Given the description of an element on the screen output the (x, y) to click on. 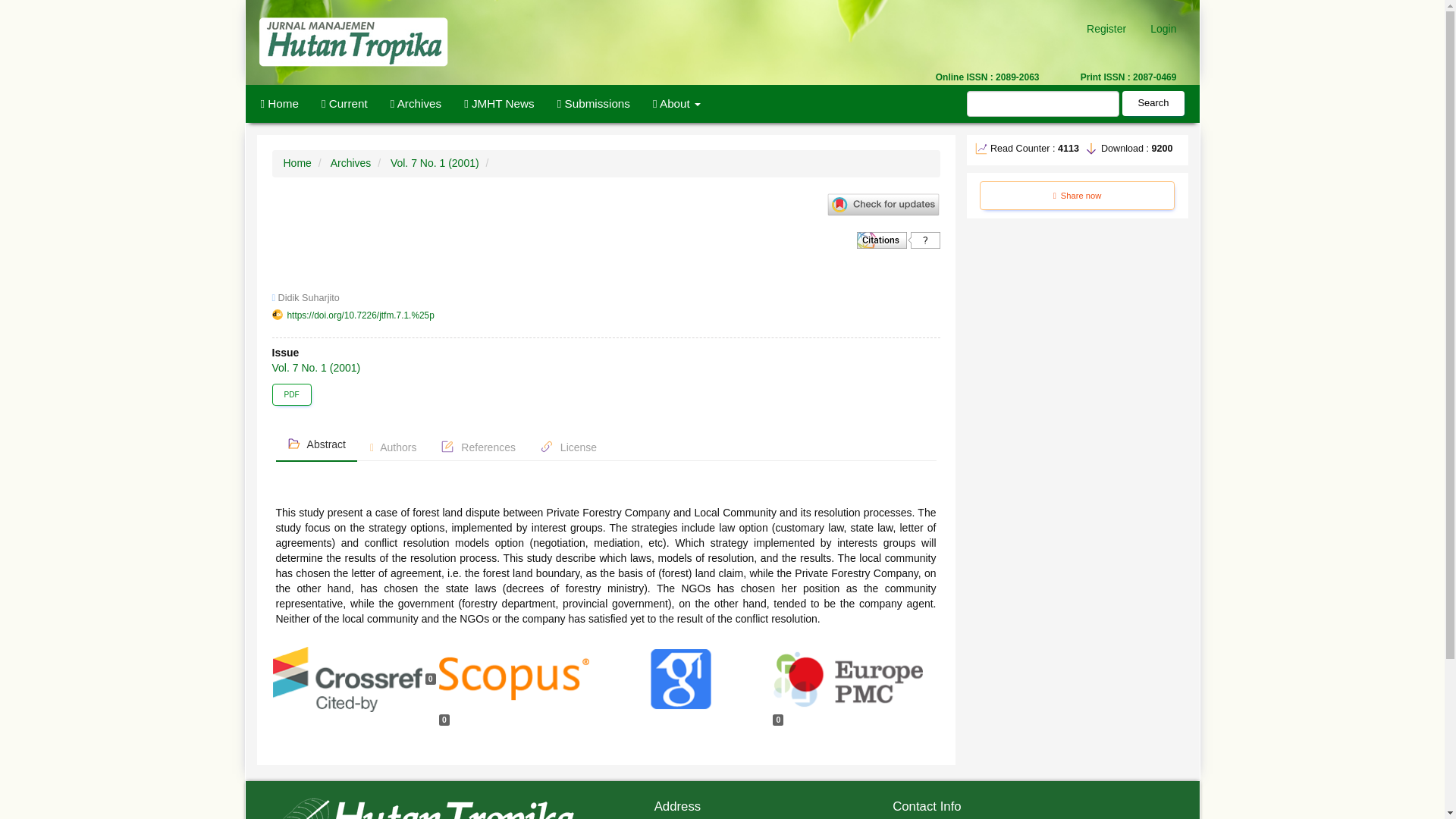
Register (1106, 28)
JMHT News (499, 103)
Current (344, 103)
Online ISSN : 2089-2063 (853, 77)
Submissions (594, 103)
References (477, 448)
Archives (415, 103)
Authors (393, 448)
Abstract (316, 444)
License (568, 448)
Search (1152, 103)
Login (1163, 28)
About (676, 103)
Print ISSN : 2087-0469 (1121, 77)
Home (297, 162)
